Given the description of an element on the screen output the (x, y) to click on. 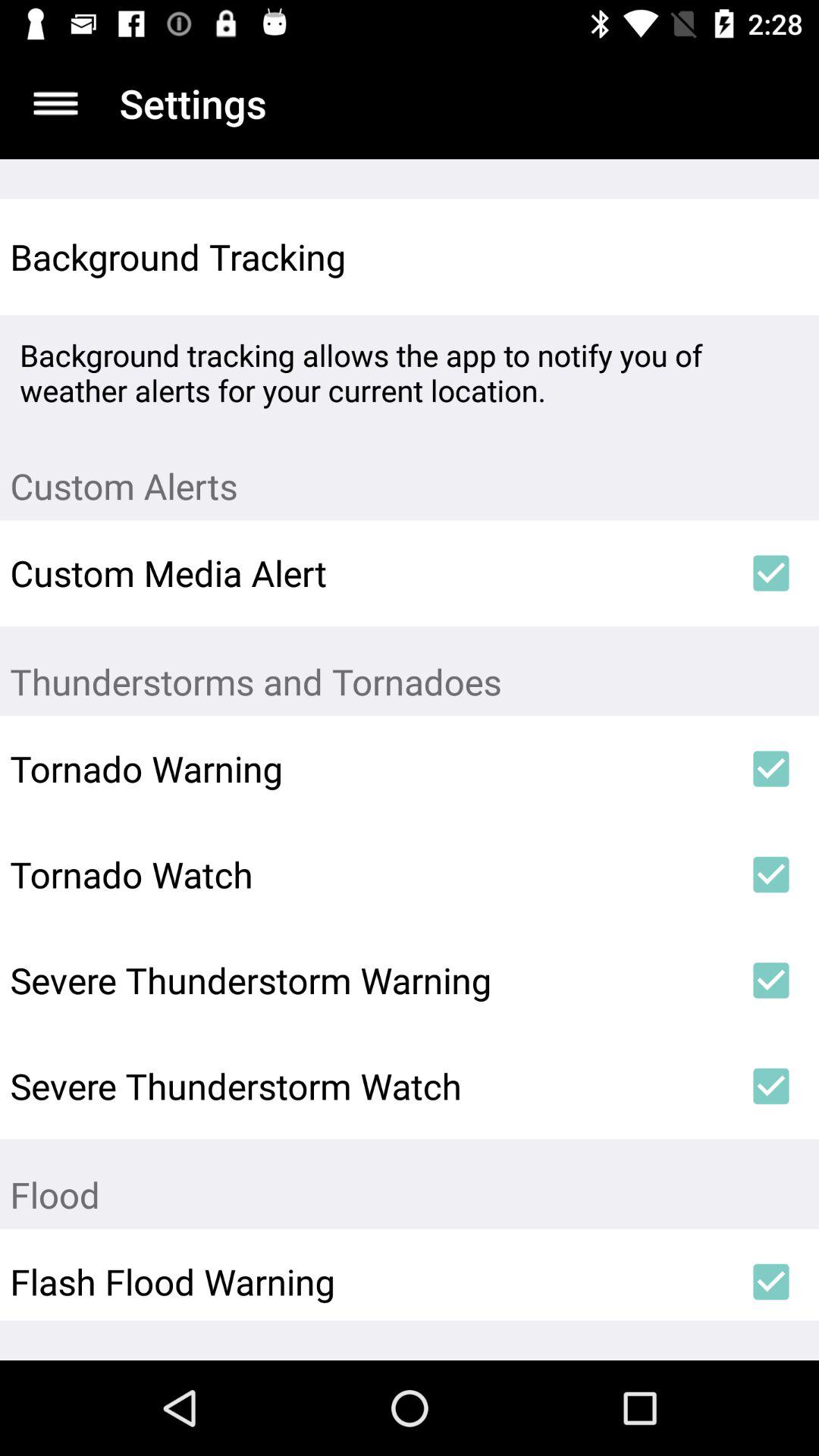
turn on item to the right of custom media alert (771, 573)
